Given the description of an element on the screen output the (x, y) to click on. 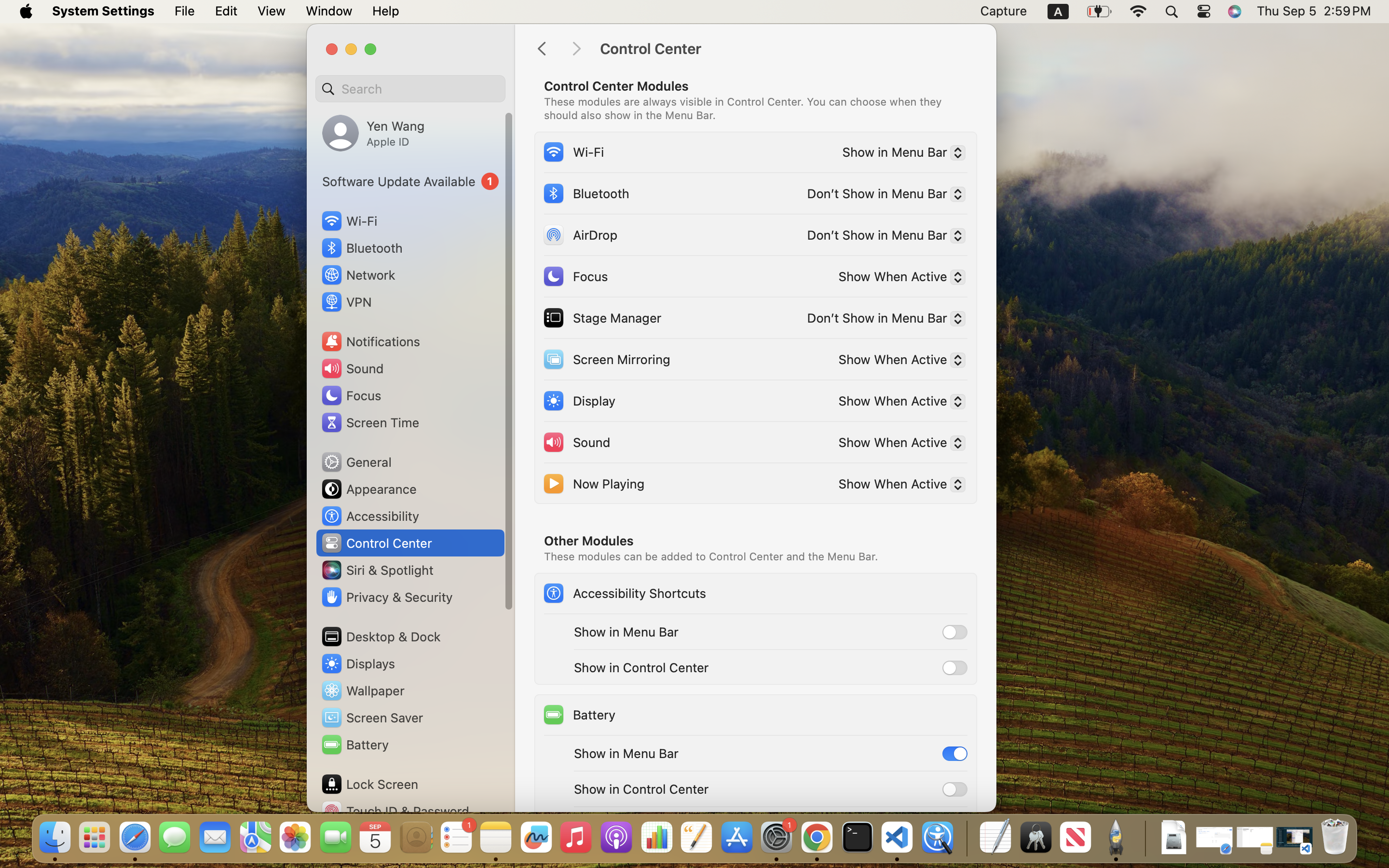
Touch ID & Password Element type: AXStaticText (394, 810)
Screen Saver Element type: AXStaticText (371, 717)
